Given the description of an element on the screen output the (x, y) to click on. 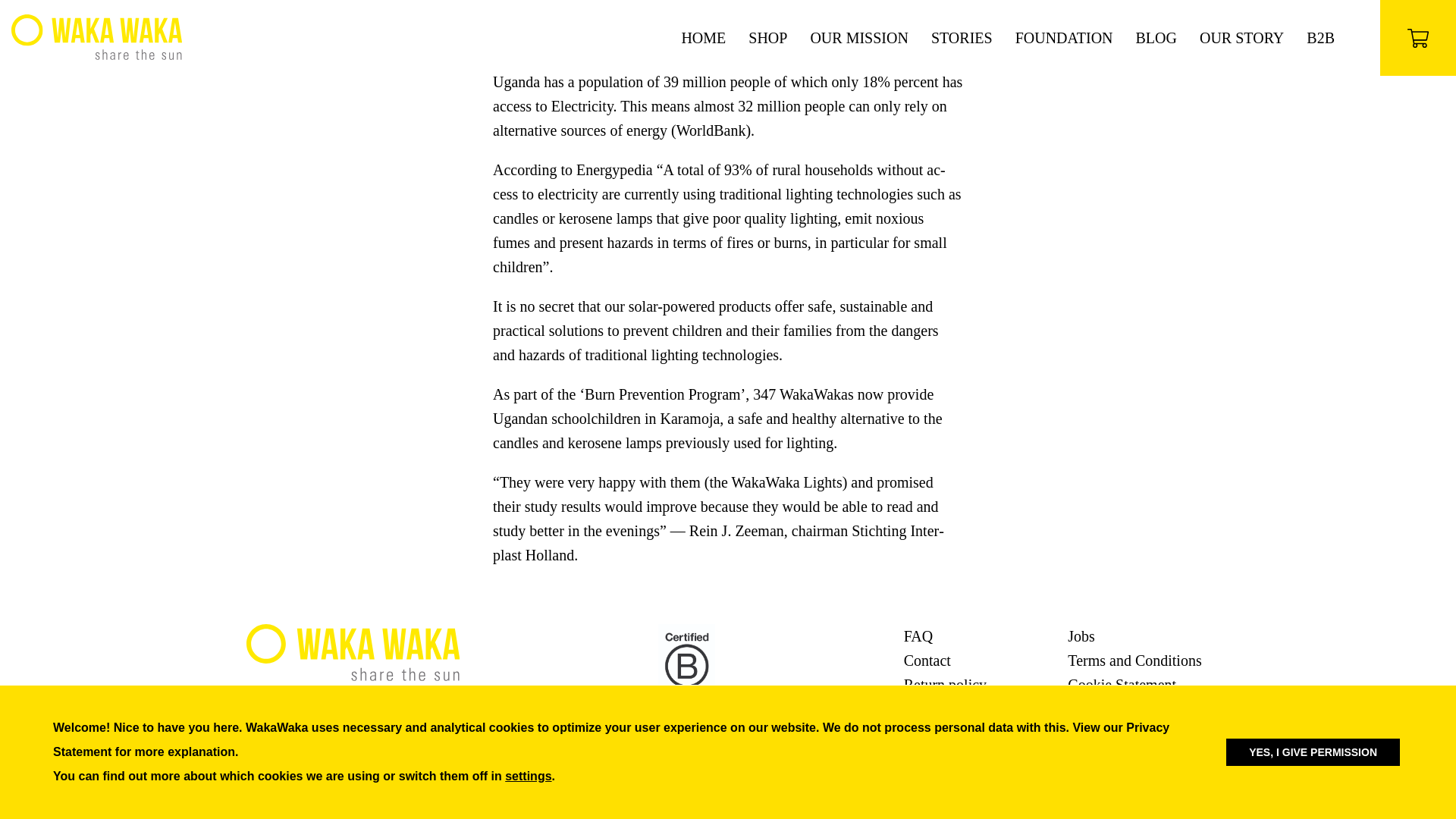
Jobs (1080, 636)
Contact (927, 660)
Return policy (945, 684)
Cookie Statement (1121, 684)
YES, I GIVE PERMISSION (1312, 473)
Manuals (930, 709)
Privacy Statement (1122, 709)
Terms and Conditions (1134, 660)
FAQ (918, 636)
